Given the description of an element on the screen output the (x, y) to click on. 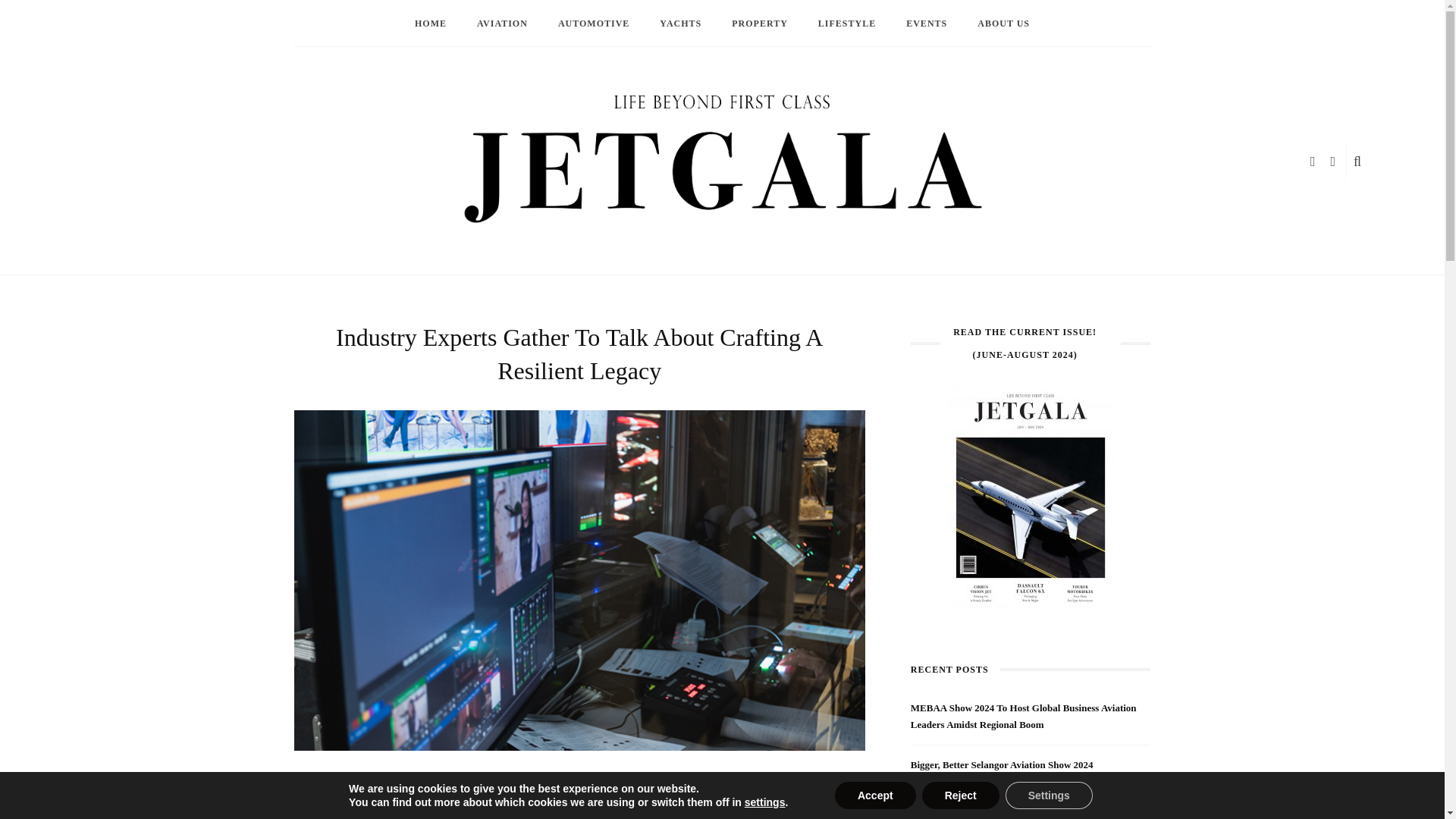
PROPERTY (759, 22)
AVIATION (502, 22)
LIFESTYLE (847, 22)
EVENTS (926, 22)
HOME (429, 22)
AUTOMOTIVE (594, 22)
ABOUT US (1003, 22)
YACHTS (680, 22)
search (1356, 161)
